Given the description of an element on the screen output the (x, y) to click on. 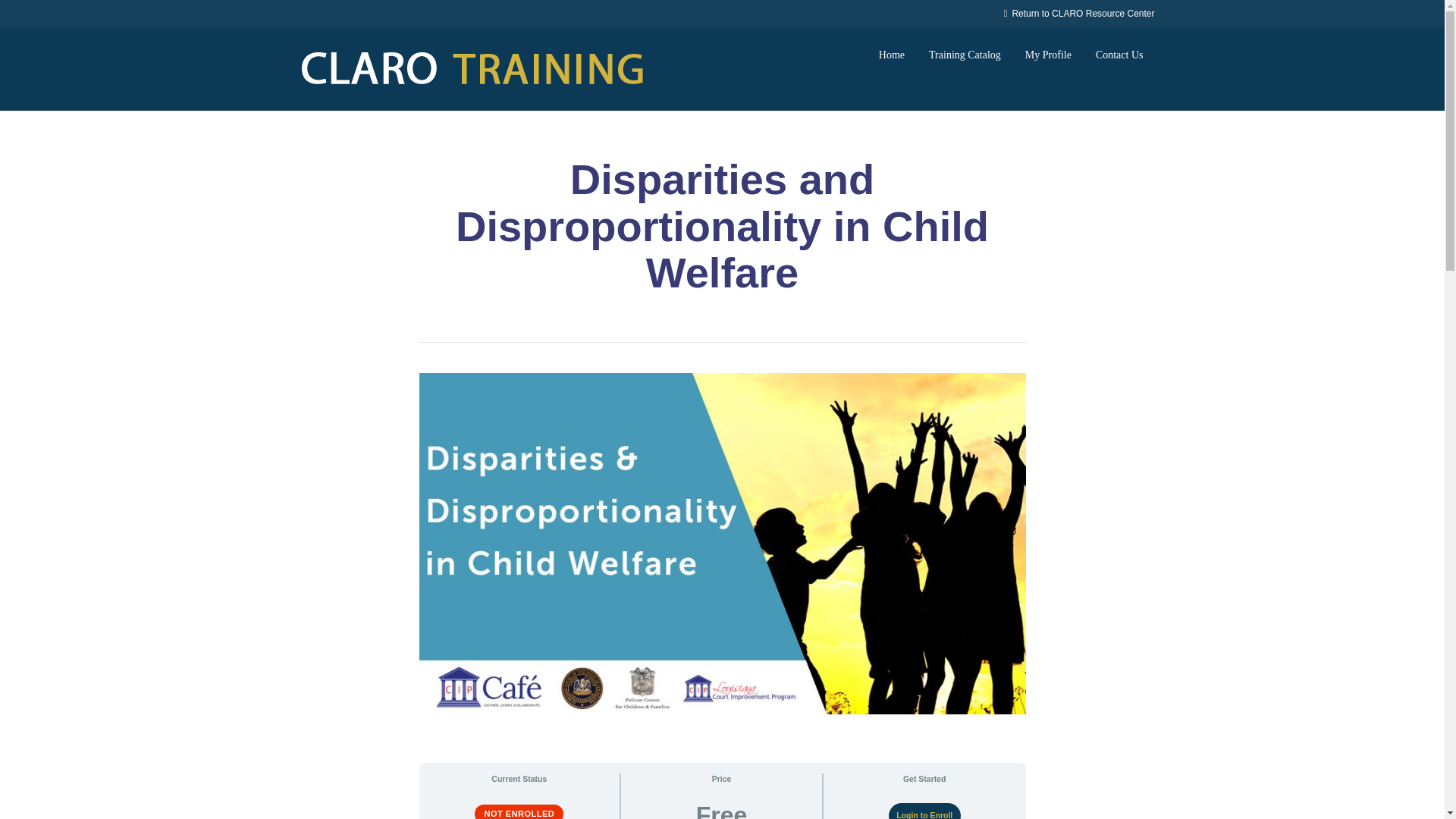
Contact Us (1119, 55)
Login to Enroll (924, 811)
Return to CLARO Resource Center (1079, 13)
Training Catalog (964, 55)
My Profile (1048, 55)
